Given the description of an element on the screen output the (x, y) to click on. 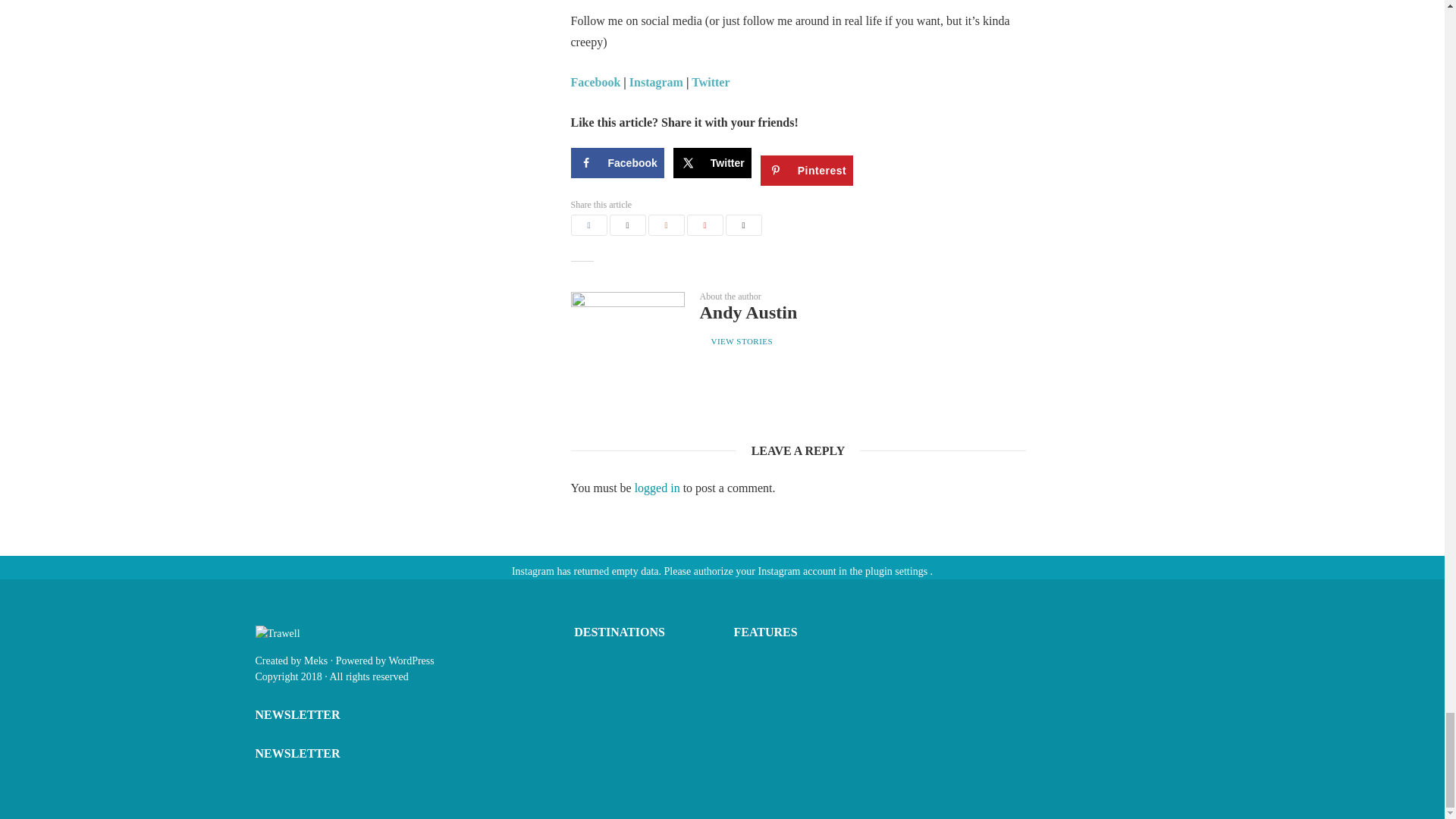
Share on Facebook (616, 163)
Save to Pinterest (806, 170)
Share on X (711, 163)
